Given the description of an element on the screen output the (x, y) to click on. 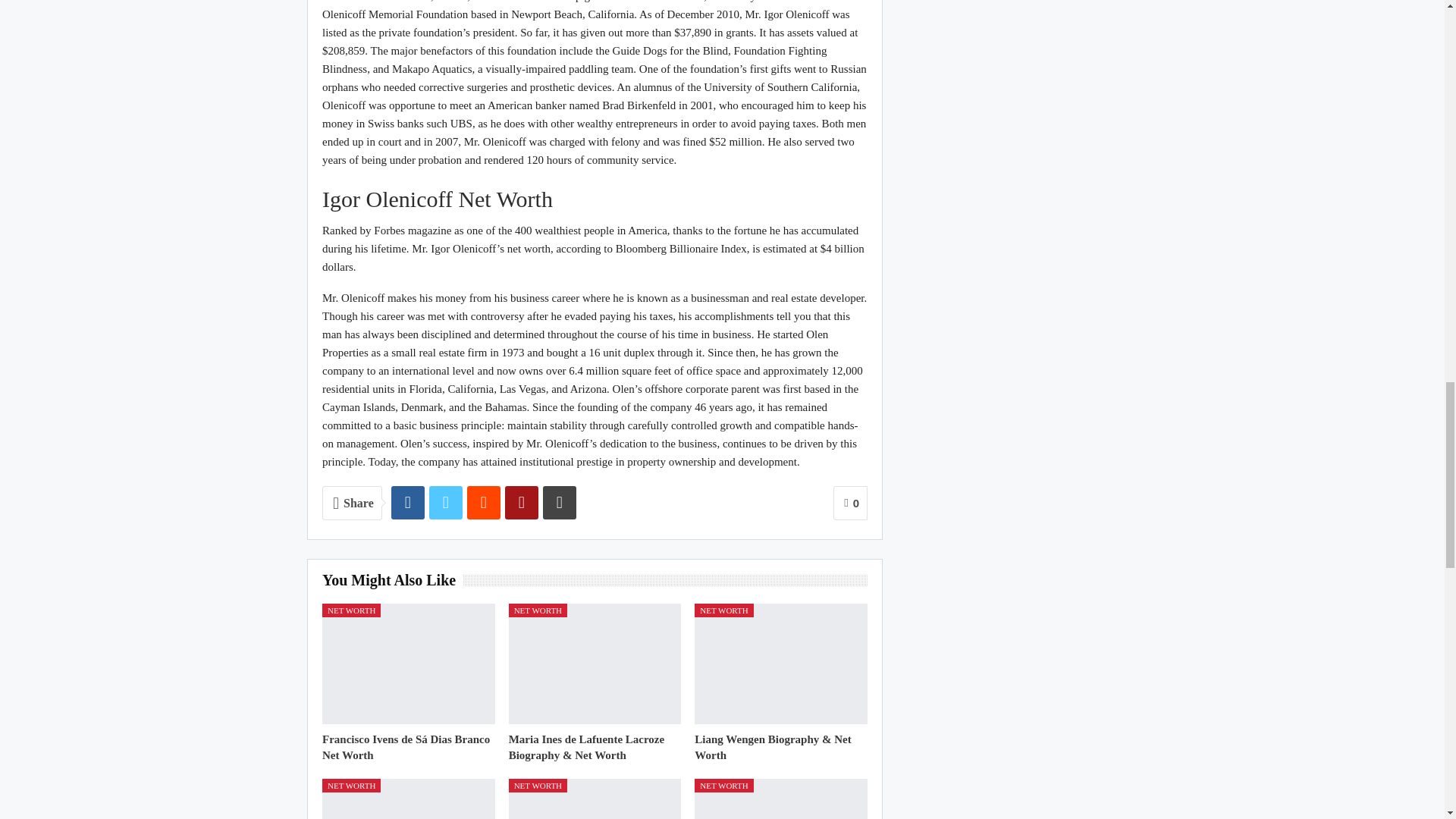
NET WORTH (723, 610)
NET WORTH (537, 610)
0 (849, 503)
NET WORTH (350, 610)
